Given the description of an element on the screen output the (x, y) to click on. 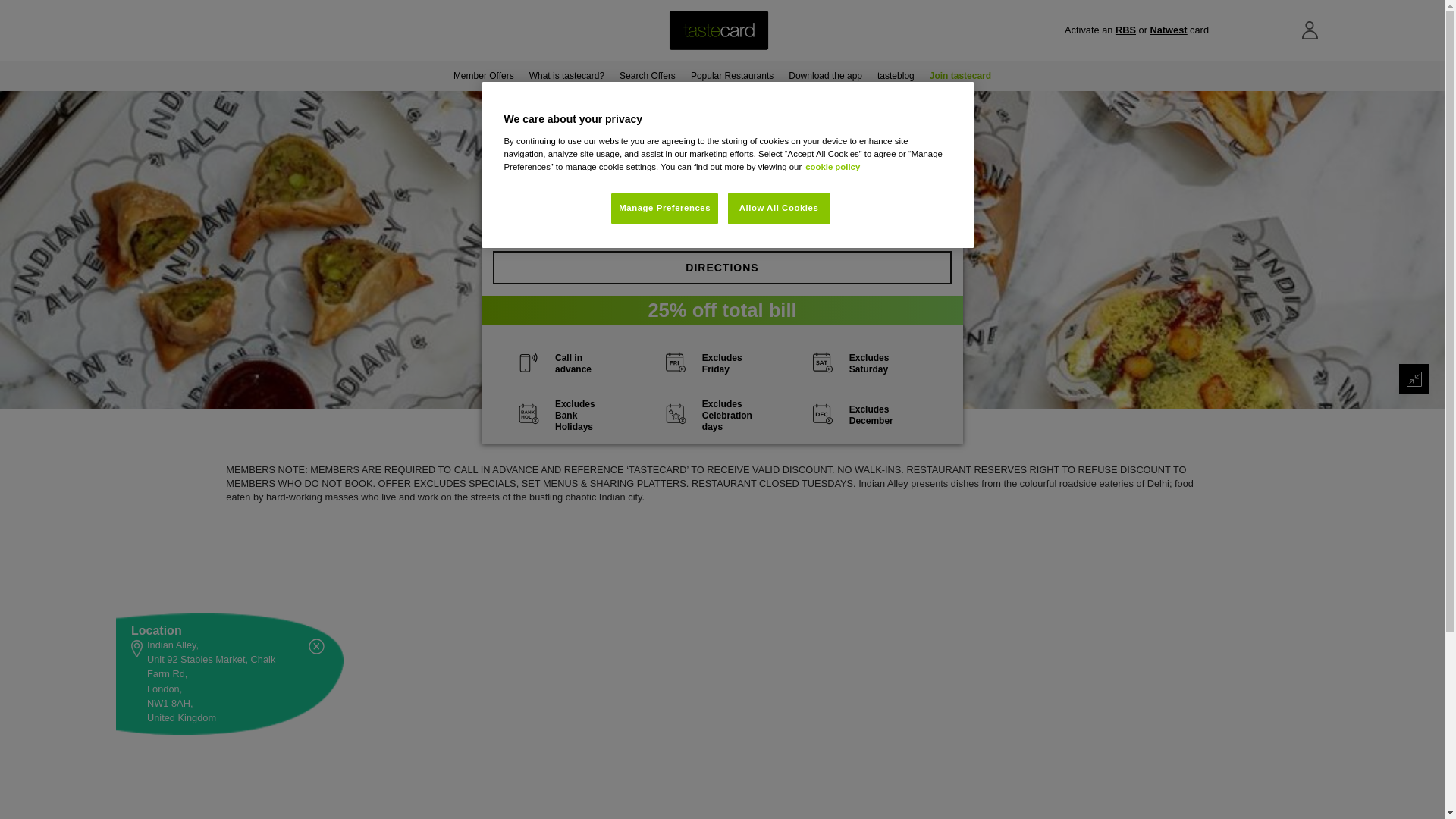
Search Offers (646, 75)
Natwest (1168, 30)
RBS (1125, 30)
What is tastecard? (566, 75)
Member Offers (483, 75)
Popular Restaurants (731, 75)
